Given the description of an element on the screen output the (x, y) to click on. 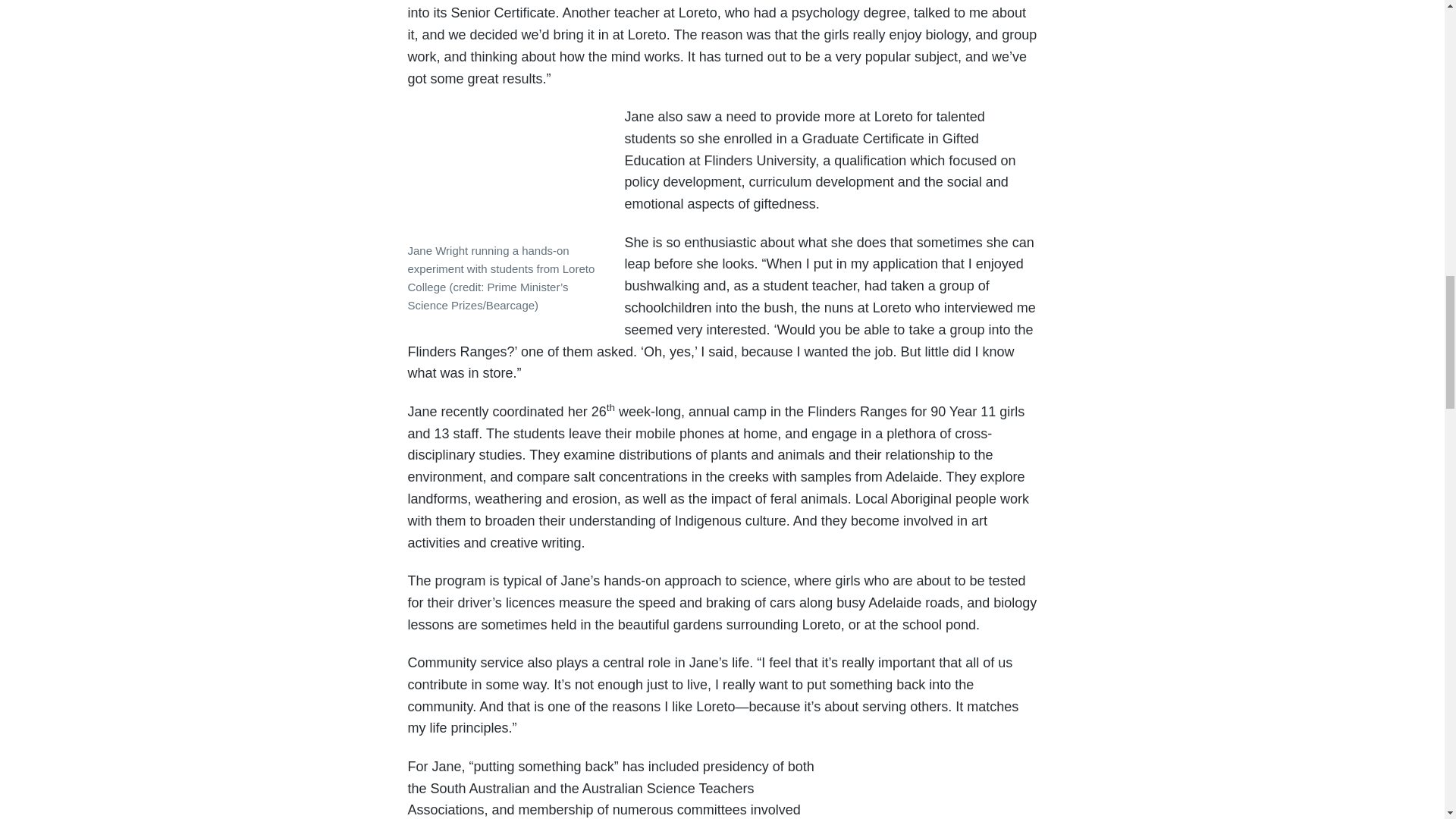
Jane students (498, 173)
Jane mid (938, 790)
